Given the description of an element on the screen output the (x, y) to click on. 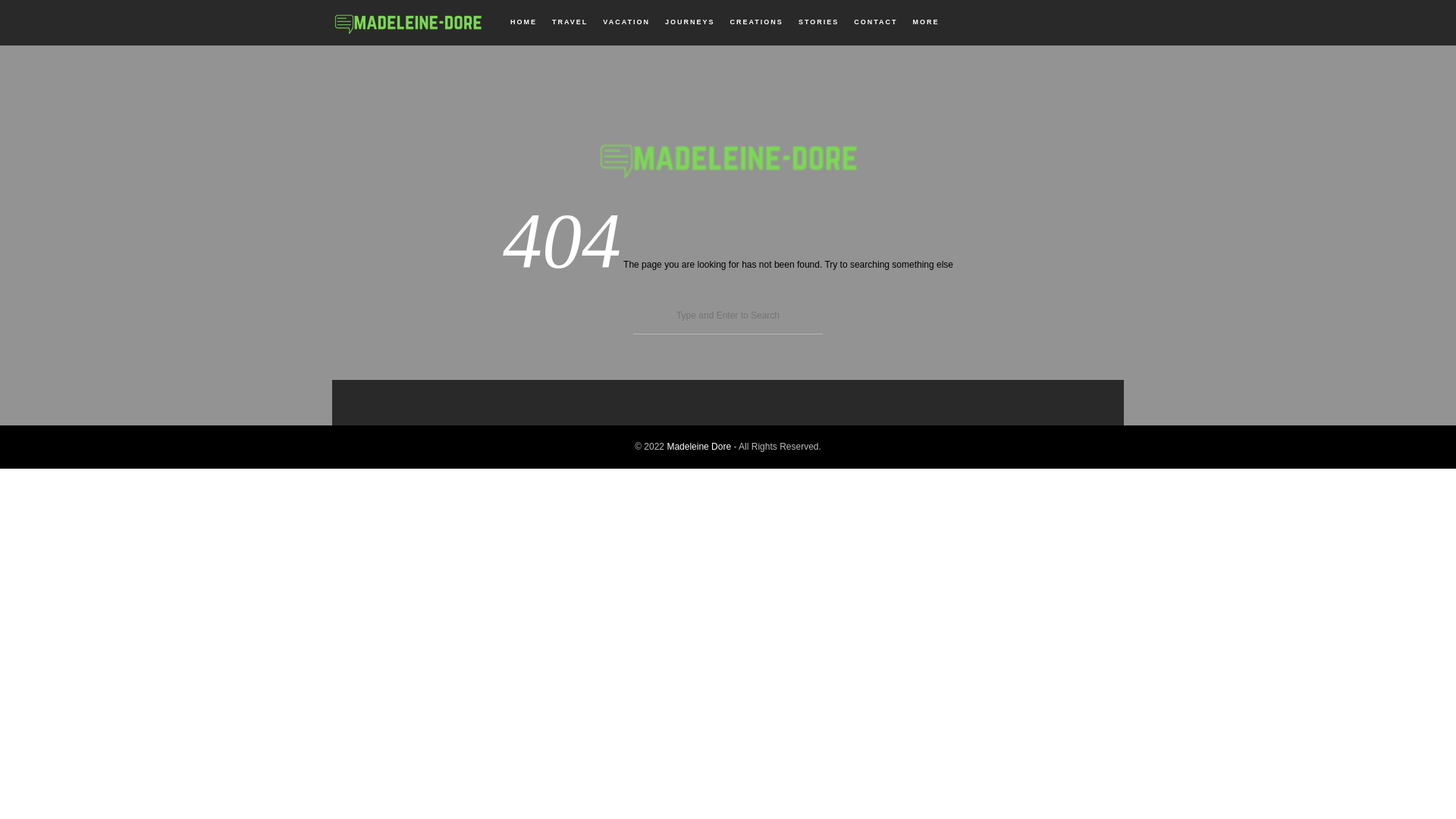
HOME (523, 22)
CREATIONS (756, 22)
MORE (925, 22)
CONTACT (875, 22)
Madeleine Dore (698, 446)
STORIES (818, 22)
VACATION (625, 22)
TRAVEL (569, 22)
JOURNEYS (690, 22)
